Given the description of an element on the screen output the (x, y) to click on. 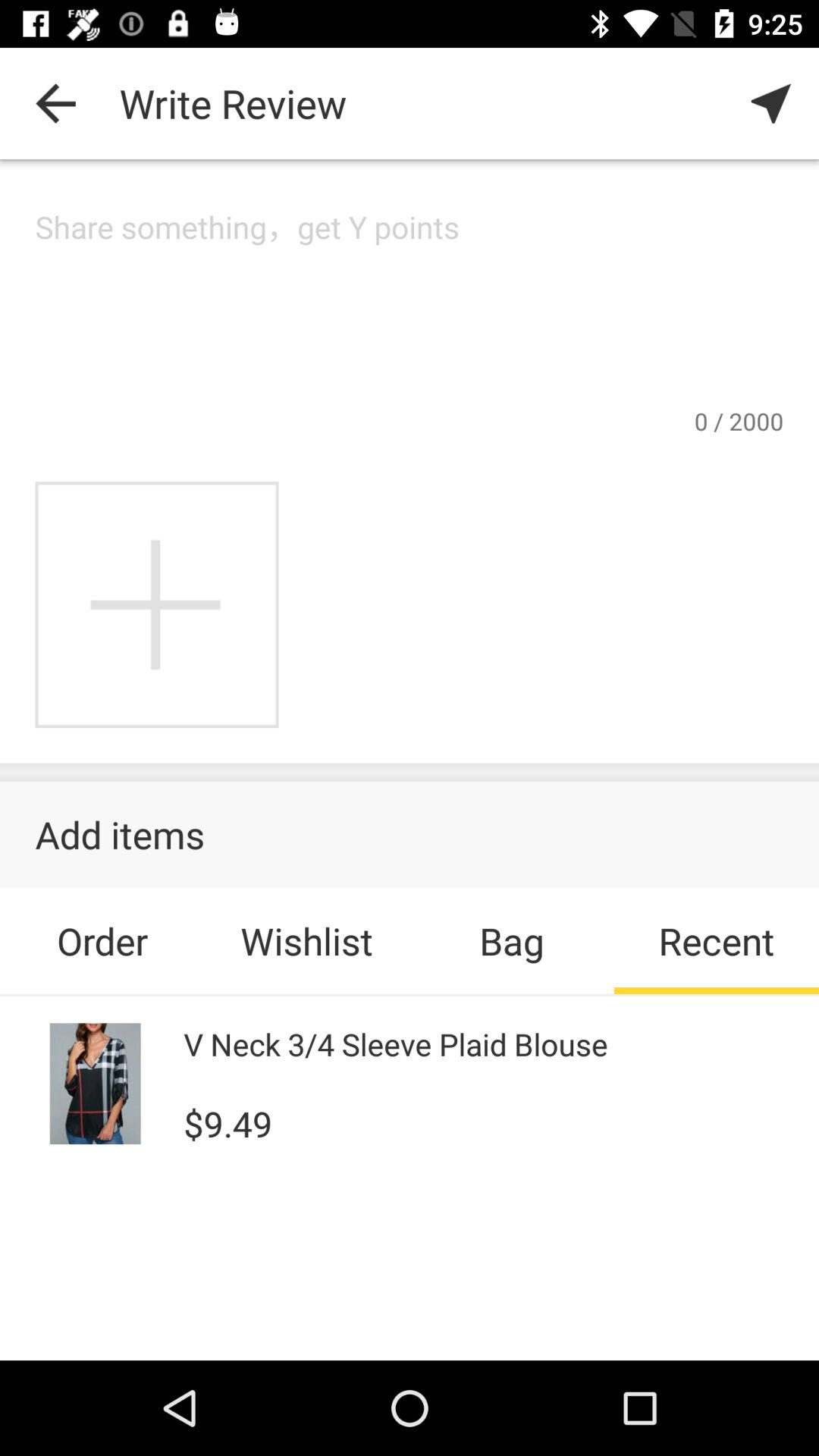
choose v neck 3 icon (395, 1043)
